Given the description of an element on the screen output the (x, y) to click on. 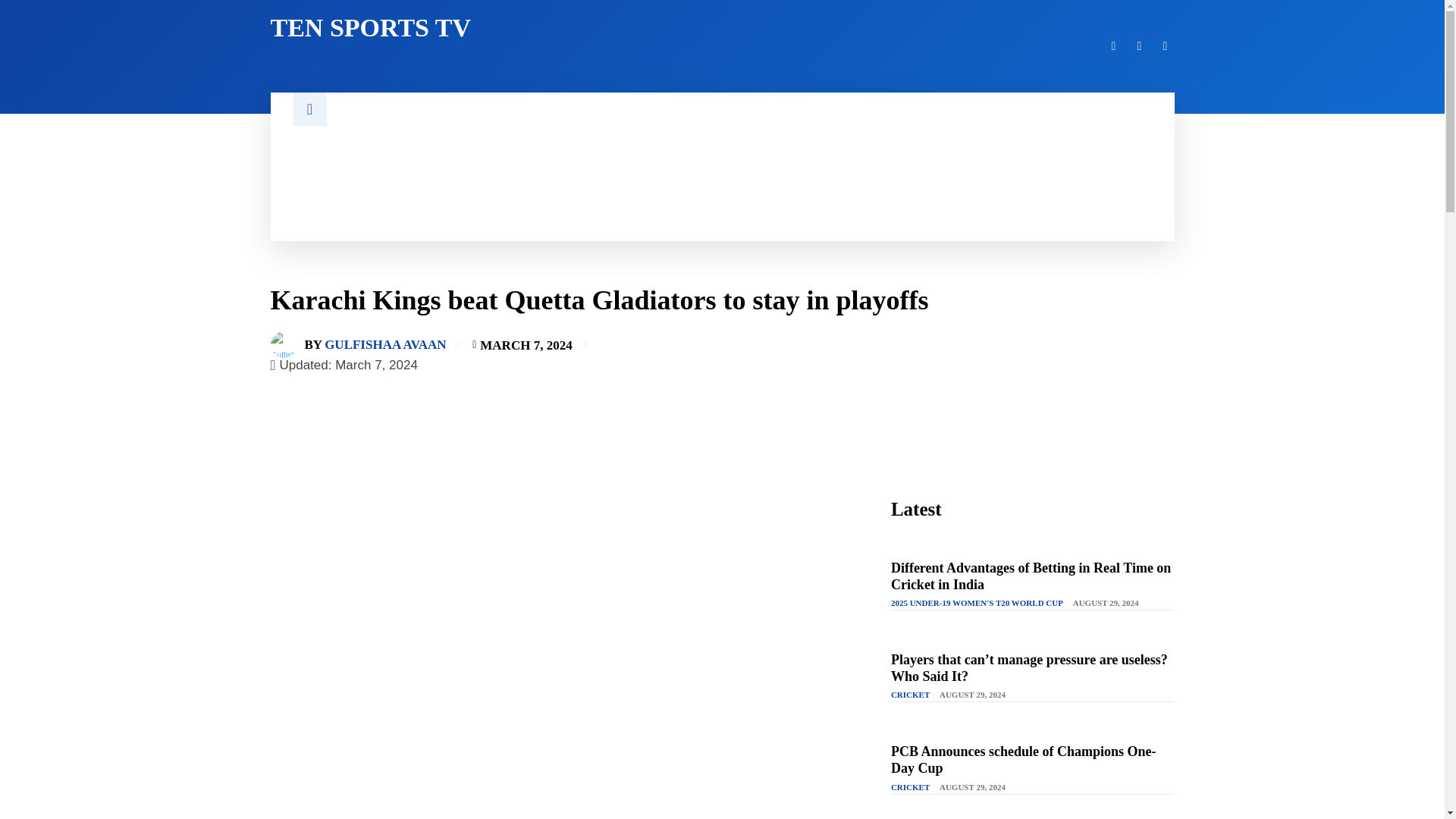
Twitter (1112, 45)
GULFISHAA AVAAN (384, 344)
2025 UNDER-19 WOMEN'S T20 WORLD CUP (976, 603)
TEN SPORTS TV (486, 27)
Gulfishaa Avaan (286, 344)
Facebook (1138, 45)
Instagram (1164, 45)
CRICKET (910, 694)
